Given the description of an element on the screen output the (x, y) to click on. 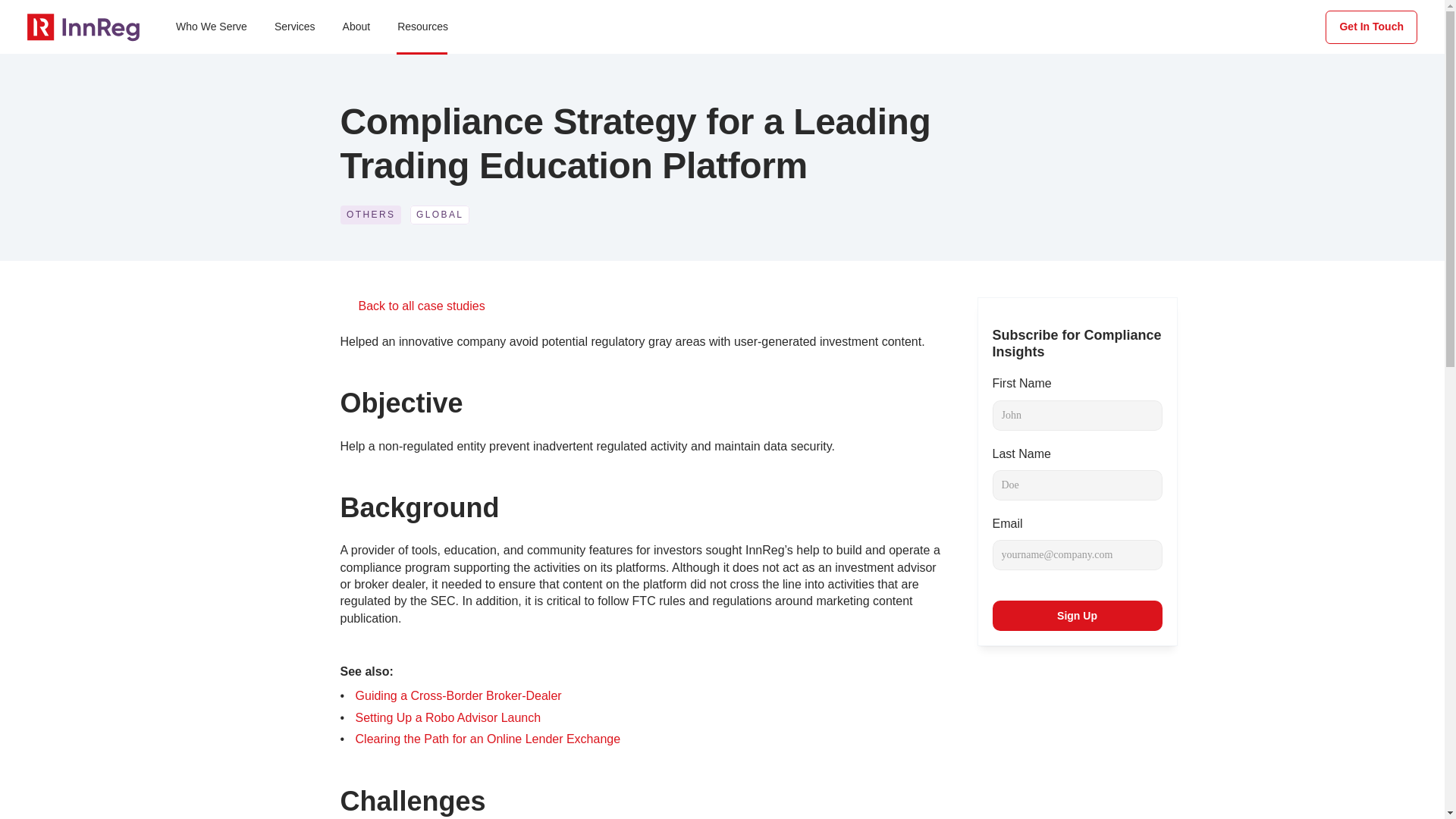
Get In Touch (1370, 27)
OTHERS (369, 214)
GLOBAL (439, 214)
Guiding a Cross-Border Broker-Dealer (458, 695)
Setting Up a Robo Advisor Launch (448, 717)
Back to all case studies (421, 305)
Sign Up (1076, 615)
Services (294, 27)
Clearing the Path for an Online Lender Exchange (488, 738)
Who We Serve (211, 27)
Resources (422, 27)
